Given the description of an element on the screen output the (x, y) to click on. 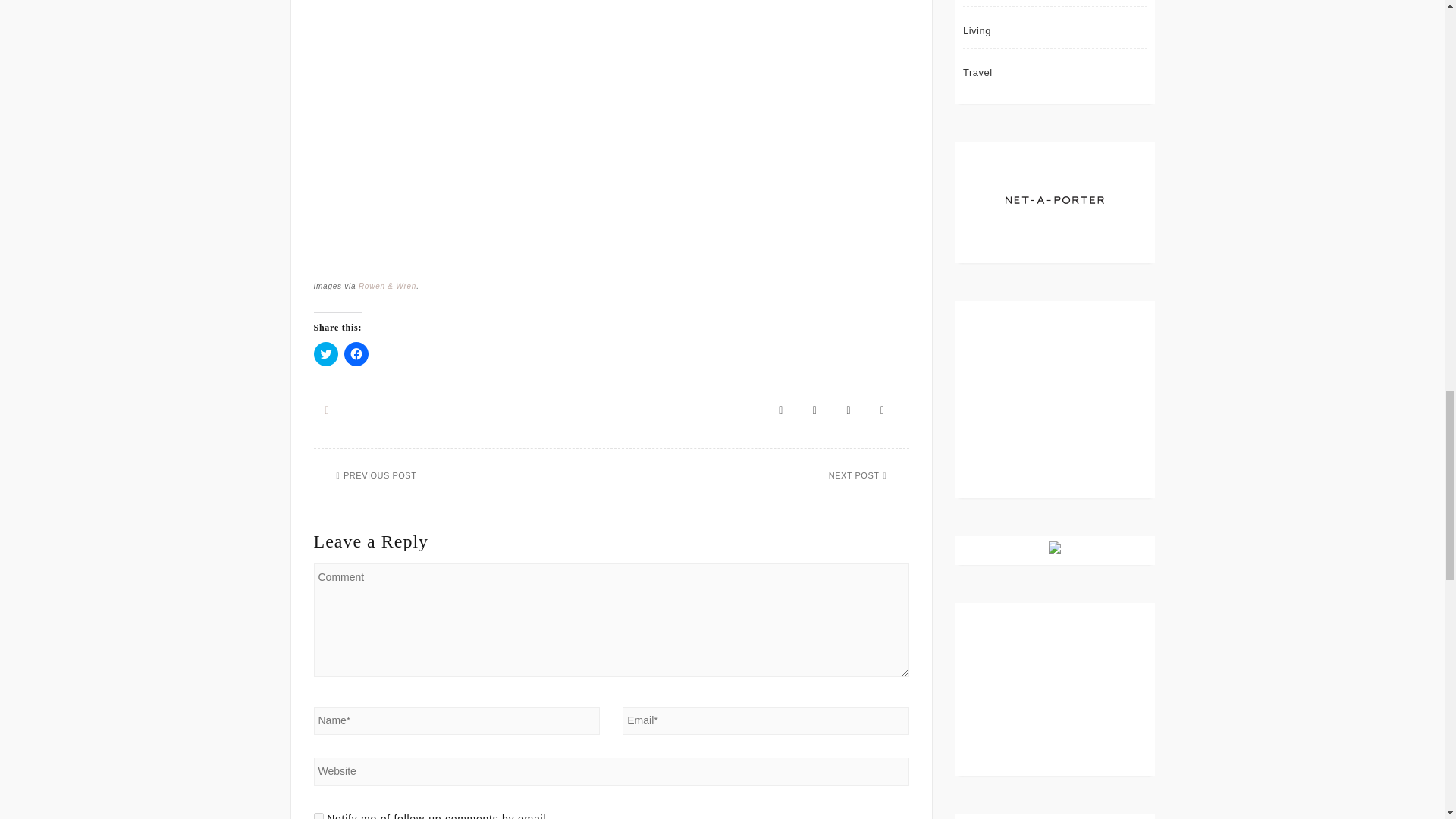
subscribe (318, 816)
Click to share on Twitter (325, 354)
Click to share on Facebook (355, 354)
NEXT POST (855, 475)
PREVIOUS POST (377, 475)
